Given the description of an element on the screen output the (x, y) to click on. 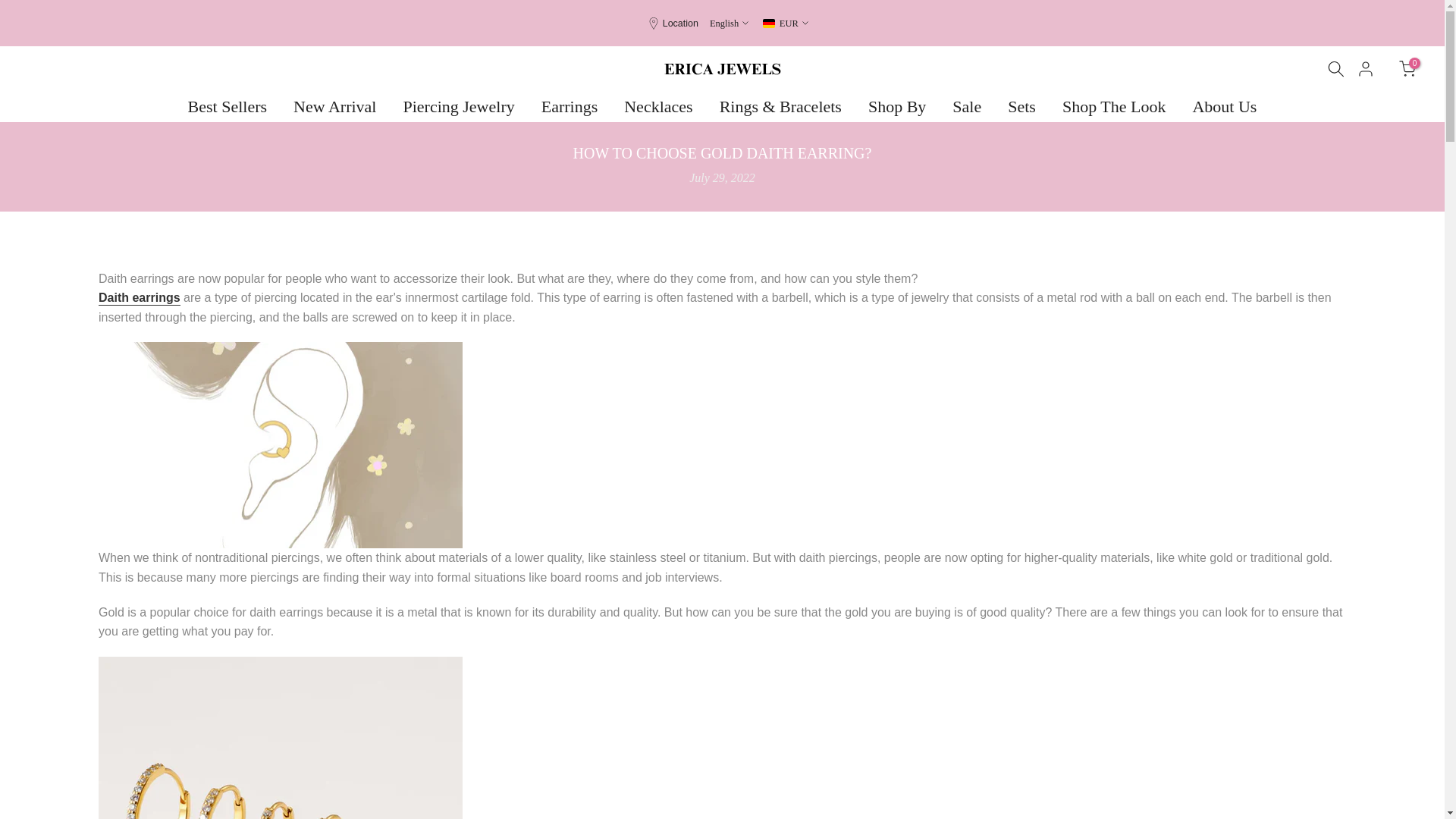
Location (680, 23)
Skip to content (10, 7)
EUR (785, 22)
daith earrings (139, 298)
English (729, 22)
